Given the description of an element on the screen output the (x, y) to click on. 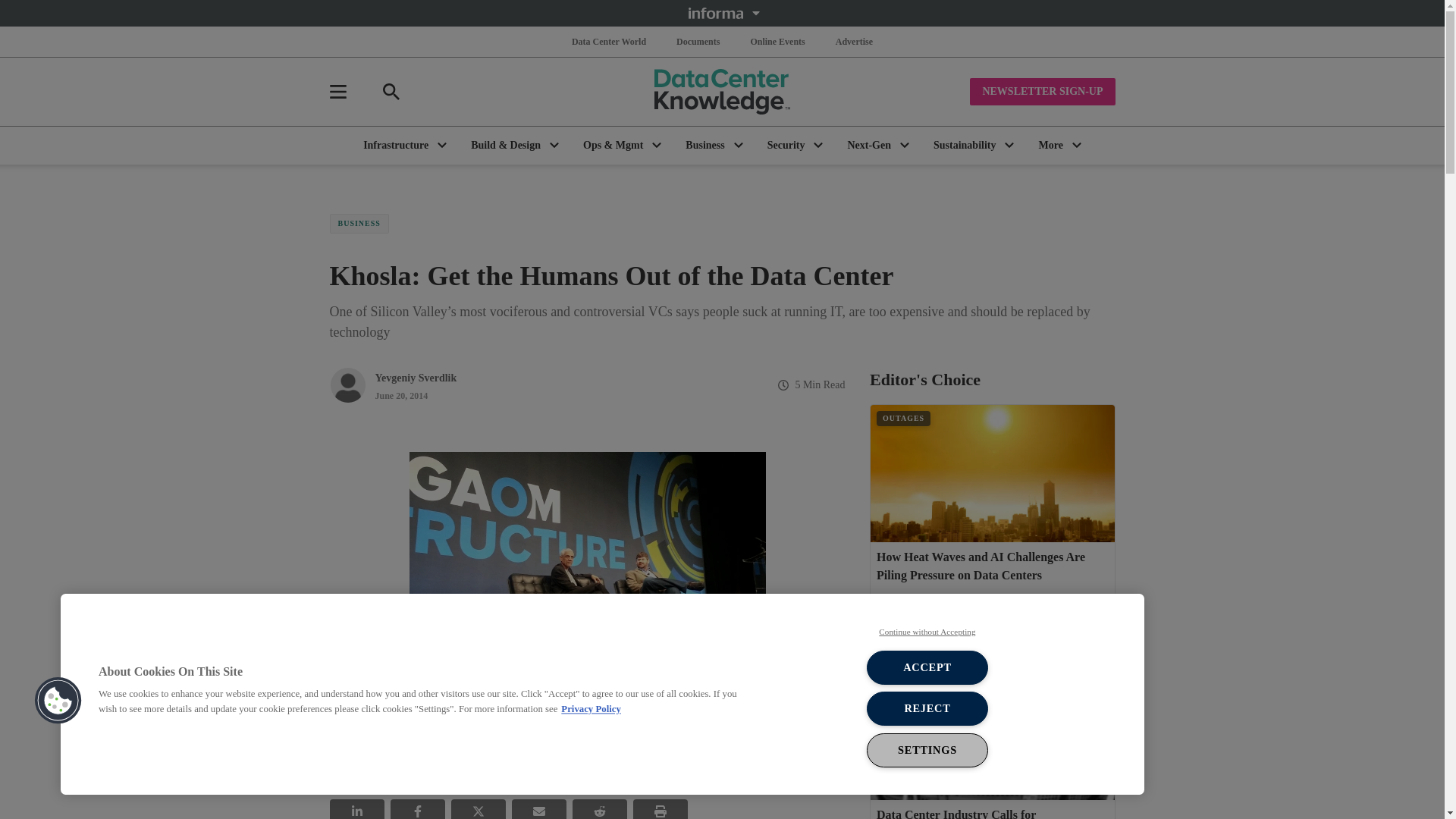
Picture of Yevgeniy Sverdlik (347, 384)
Documents (697, 41)
Cookies Button (57, 700)
Data Center World (609, 41)
Online Events (777, 41)
Data Center Knowledge Logo (721, 91)
NEWSLETTER SIGN-UP (1042, 90)
Advertise (854, 41)
